Given the description of an element on the screen output the (x, y) to click on. 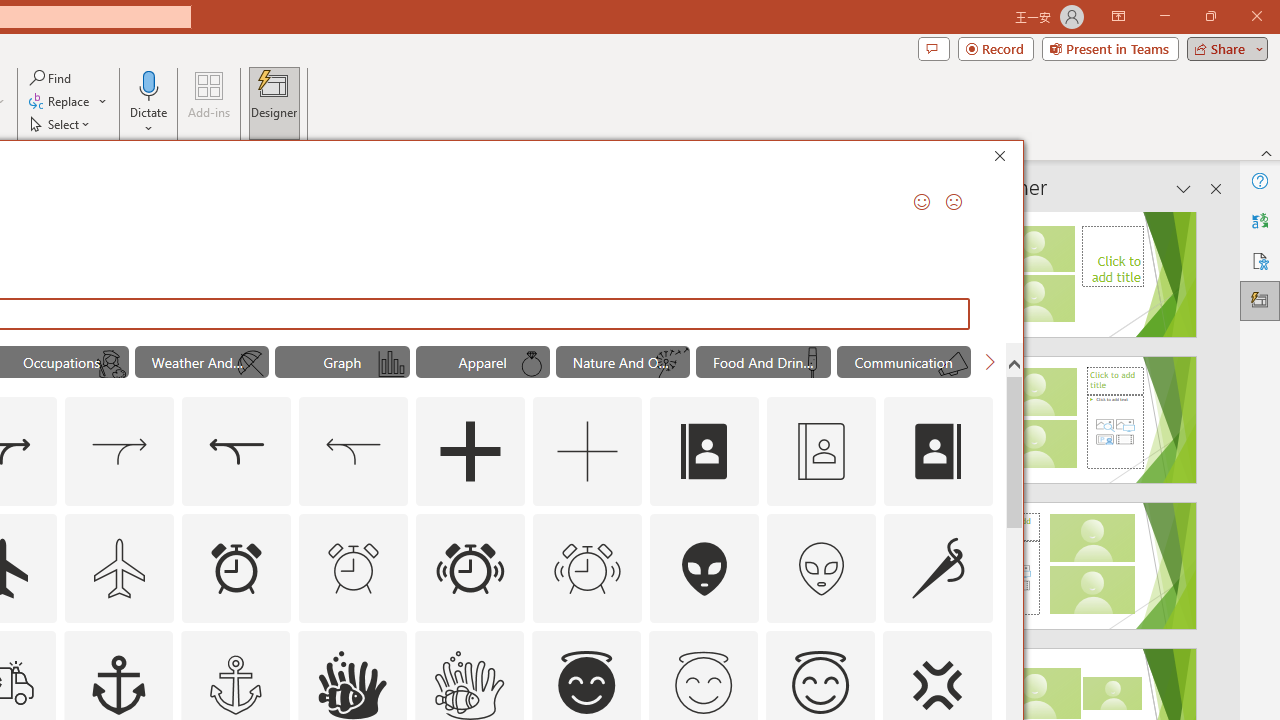
"Food And Drinks" Icons. (763, 362)
AutomationID: Icons_AddressBook_LTR_M (821, 452)
AutomationID: Icons_Airplane_M (120, 568)
AutomationID: Icons_AddressBook_LTR (705, 452)
AutomationID: Icons_Dandelion_M (671, 364)
AutomationID: Icons_AlterationsTailoring (938, 568)
AutomationID: Icons_Acquisition_RTL_M (353, 452)
"Weather And Seasons" Icons. (201, 362)
